Given the description of an element on the screen output the (x, y) to click on. 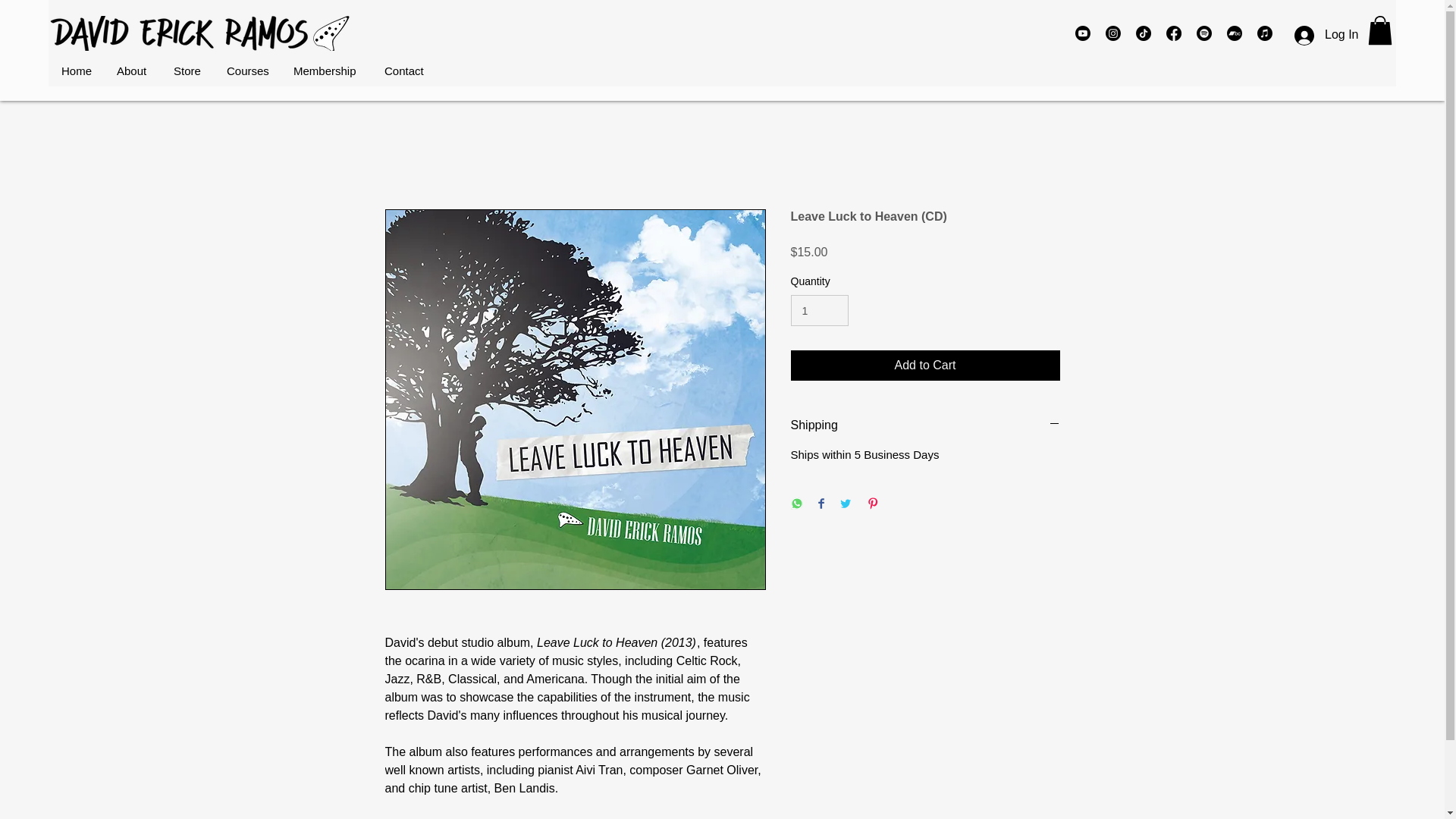
1 (818, 309)
Shipping (924, 425)
Contact (405, 71)
Log In (1323, 35)
About (132, 71)
Courses (247, 71)
Home (76, 71)
Add to Cart (924, 365)
Store (187, 71)
Membership (326, 71)
